Given the description of an element on the screen output the (x, y) to click on. 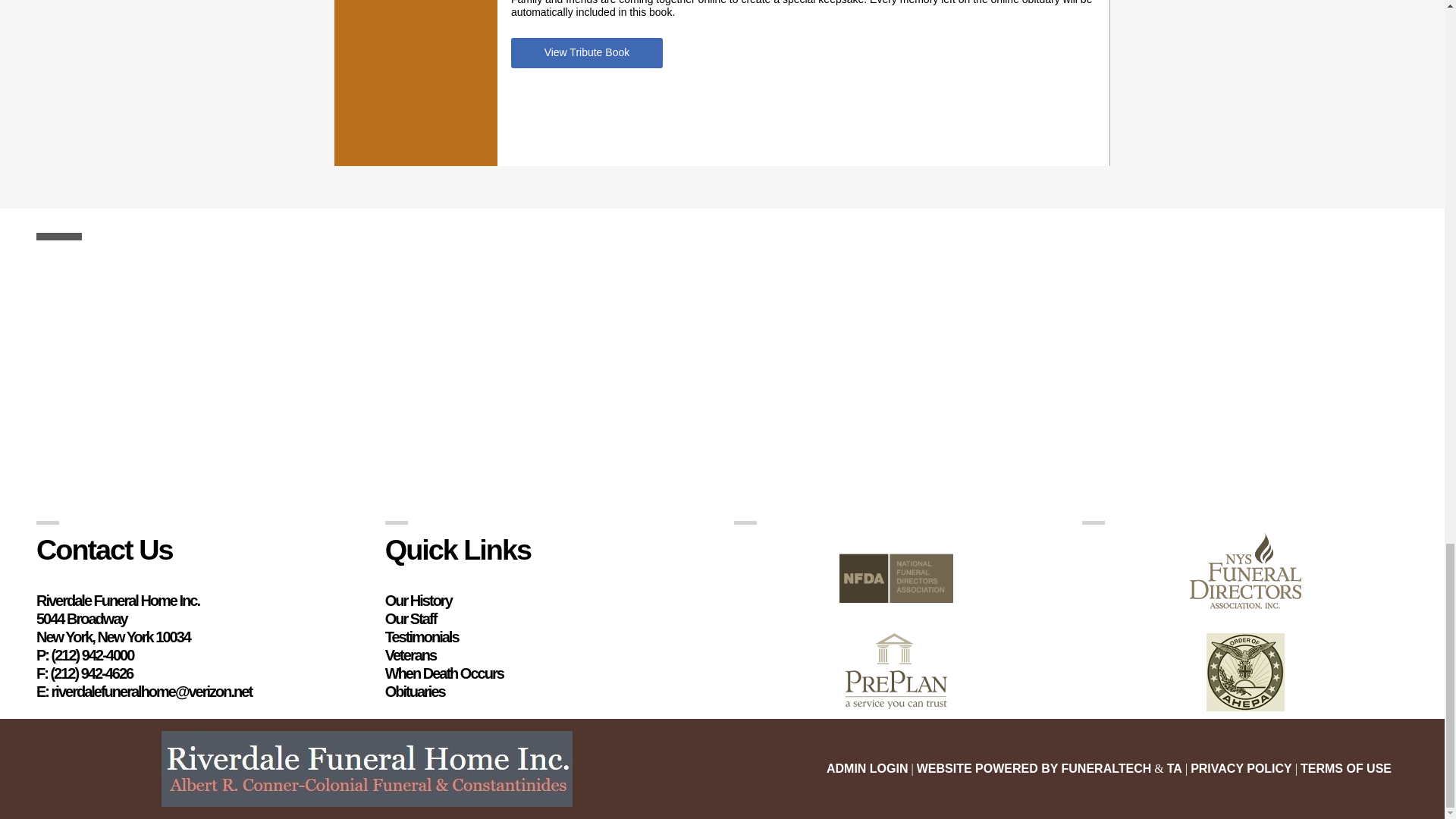
Contact Us (104, 549)
Veterans (410, 655)
Our Staff (410, 618)
Our History (418, 600)
Testimonials (421, 636)
When Death Occurs (444, 673)
Obituaries (415, 691)
